Given the description of an element on the screen output the (x, y) to click on. 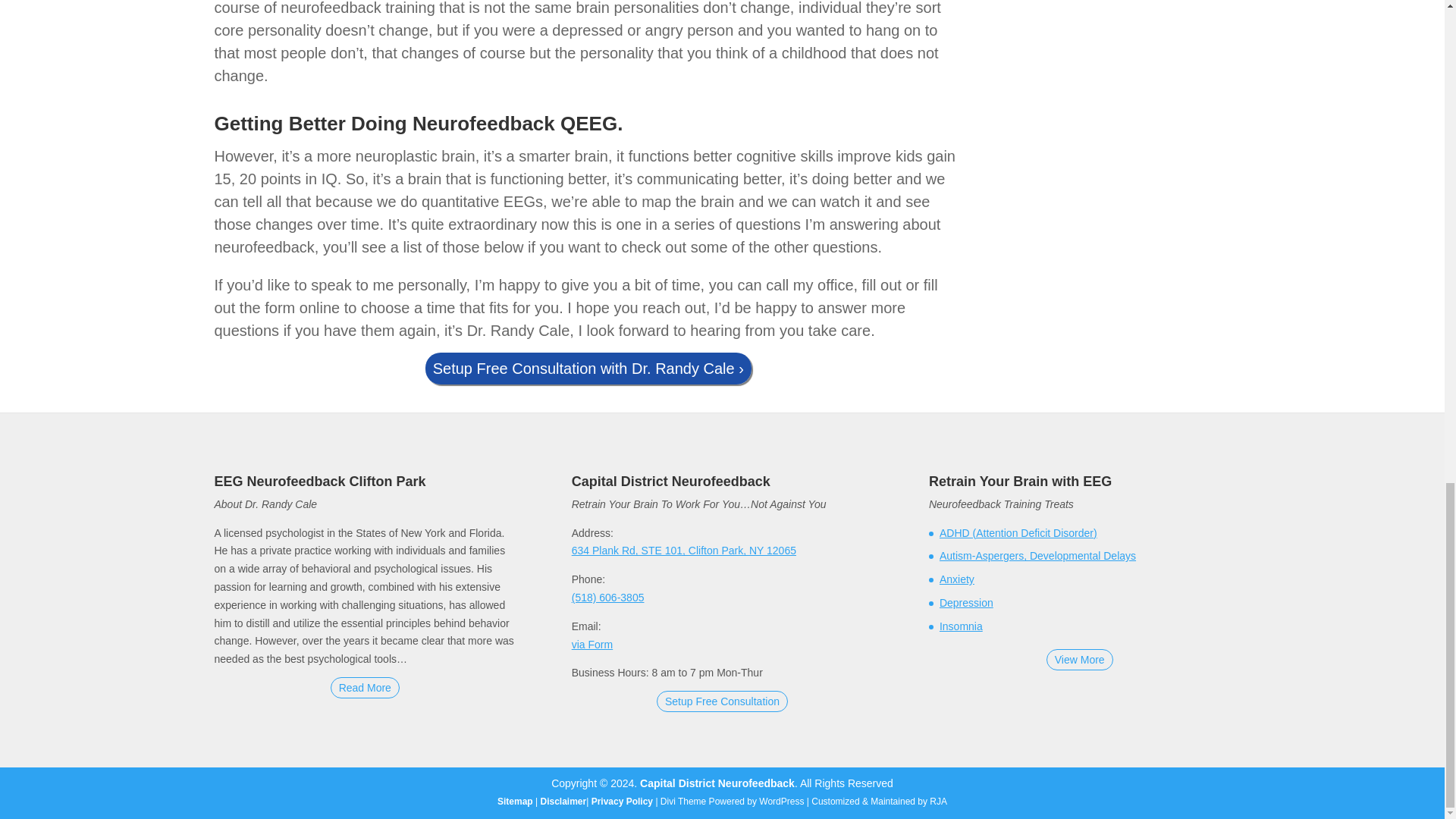
Anxiety condition treated with Neurofeedback (956, 579)
ADHD condition treated with Neurofeedback (1018, 532)
Austims-Aspergers conditions treated with Neurofeedback (1037, 555)
Click here to get direction via Google Map (684, 550)
Insomnia condition treated with Neurofeedback (960, 625)
Depression condition treated with Neurofeedback (965, 603)
Click here for free appointment with us (721, 701)
Click here to email us via contact form (592, 644)
Click here to call us for inquiries (608, 597)
